Given the description of an element on the screen output the (x, y) to click on. 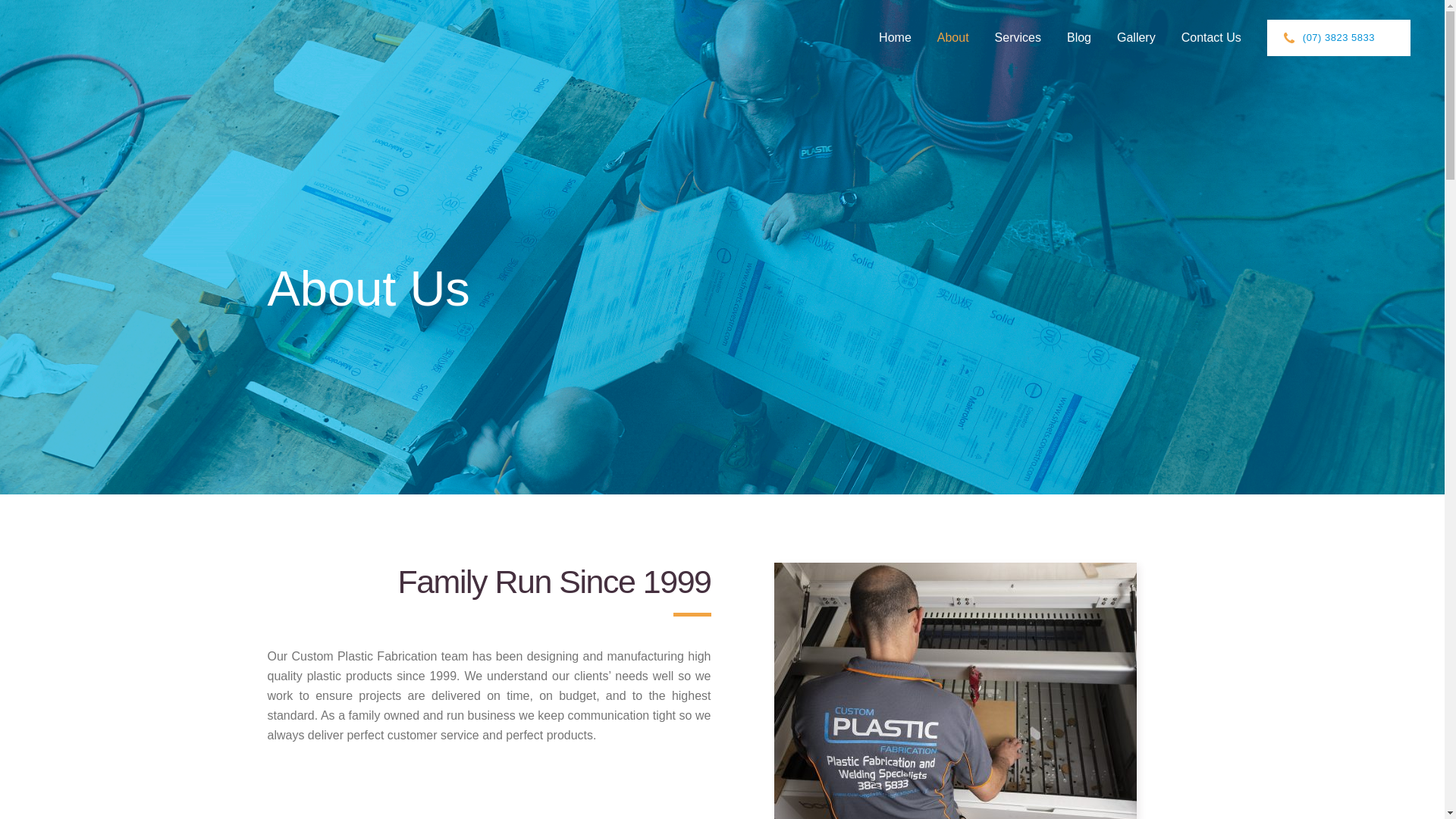
Blog Element type: text (1079, 37)
Gallery Element type: text (1136, 37)
Home Element type: text (895, 37)
About Element type: text (953, 37)
Contact Us Element type: text (1211, 37)
Services Element type: text (1018, 37)
(07) 3823 5833 Element type: text (1338, 37)
